Given the description of an element on the screen output the (x, y) to click on. 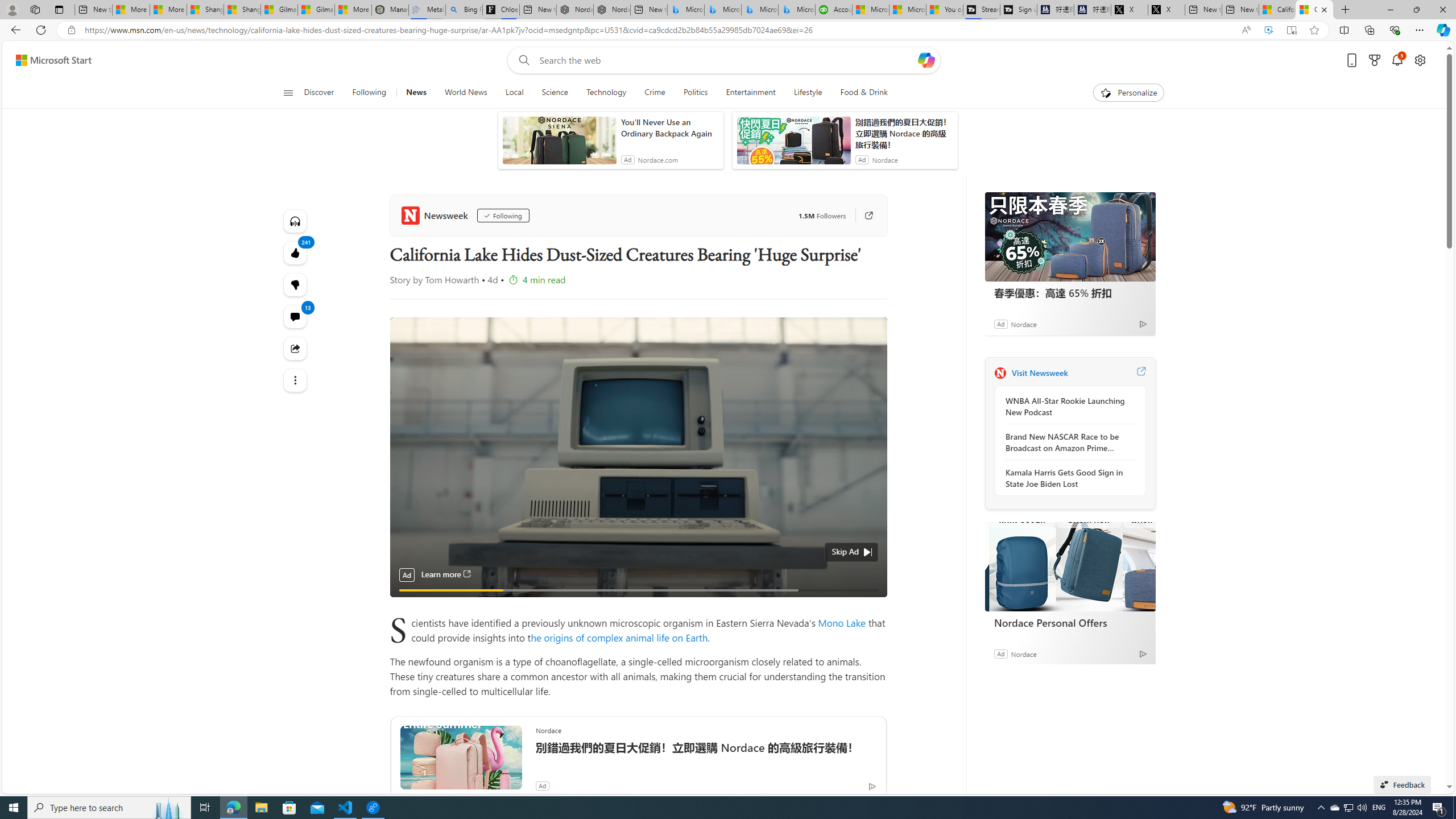
Technology (606, 92)
View comments 13 Comment (295, 316)
WNBA All-Star Rookie Launching New Podcast (1066, 406)
Entertainment (750, 92)
Enhance video (1268, 29)
Share this story (295, 348)
Pause (406, 603)
